Given the description of an element on the screen output the (x, y) to click on. 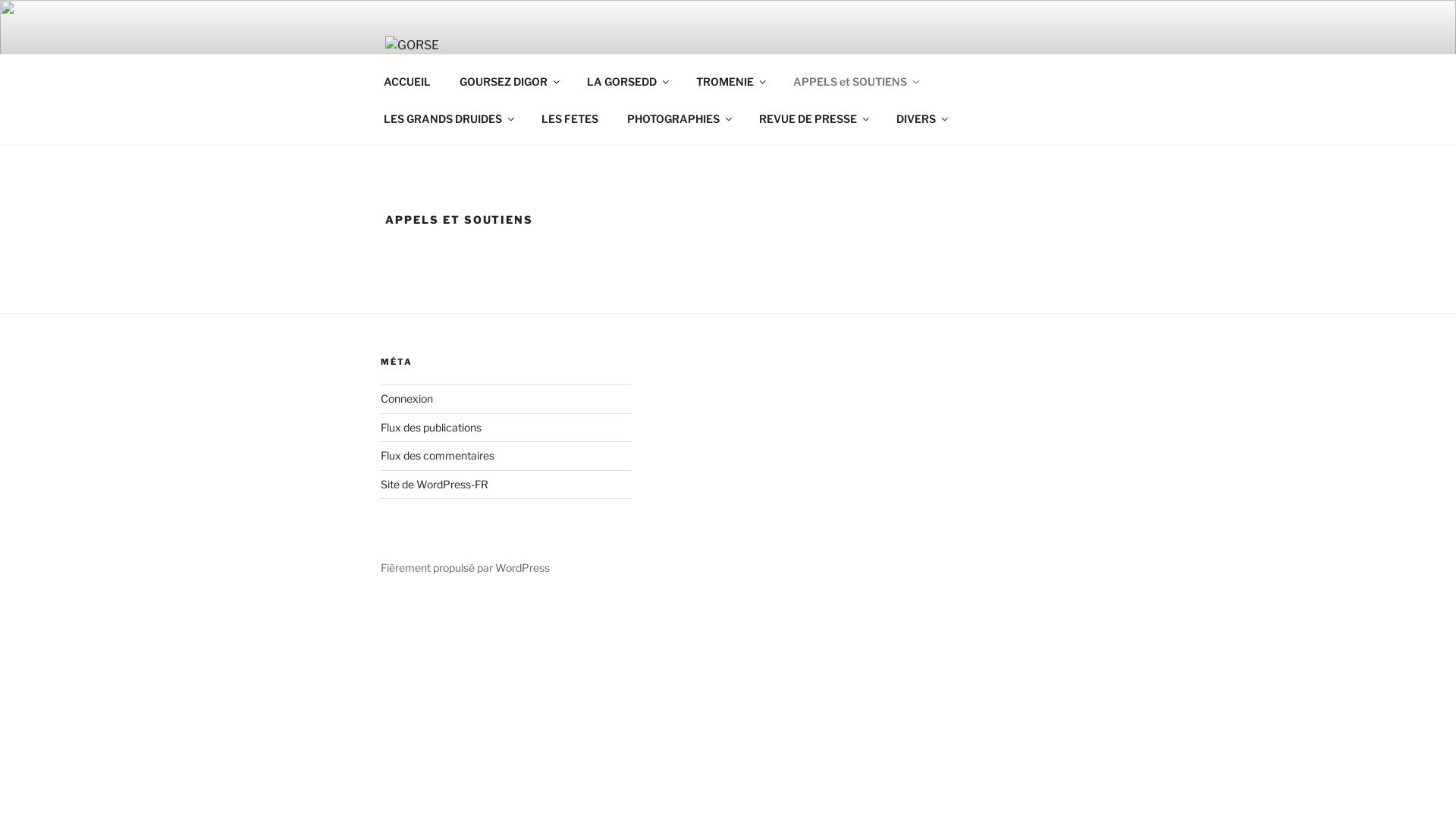
REVUE DE PRESSE Element type: text (812, 118)
GOURSEZ DIGOR Element type: text (508, 80)
Connexion Element type: text (406, 398)
Flux des commentaires Element type: text (437, 454)
LES GRANDS DRUIDES Element type: text (447, 118)
GORSEDD DE BRETAGNE Element type: text (663, 72)
LA GORSEDD Element type: text (626, 80)
Site de WordPress-FR Element type: text (434, 483)
ACCUEIL Element type: text (406, 80)
DIVERS Element type: text (920, 118)
APPELS et SOUTIENS Element type: text (854, 80)
PHOTOGRAPHIES Element type: text (678, 118)
LES FETES Element type: text (569, 118)
TROMENIE Element type: text (729, 80)
Flux des publications Element type: text (430, 426)
